Given the description of an element on the screen output the (x, y) to click on. 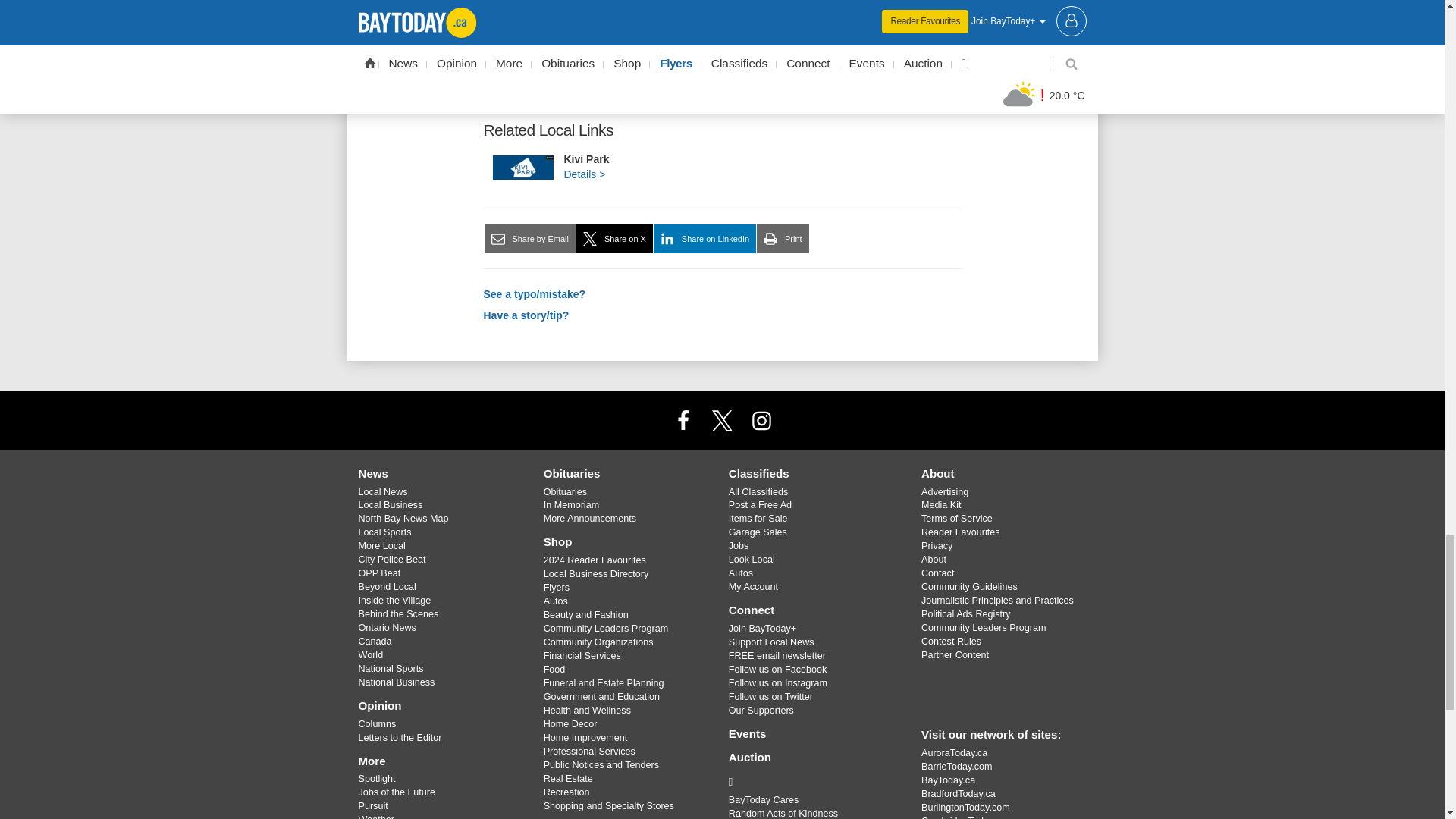
Facebook (683, 419)
Instagram (760, 419)
X (721, 419)
BayToday Cares (813, 781)
